Given the description of an element on the screen output the (x, y) to click on. 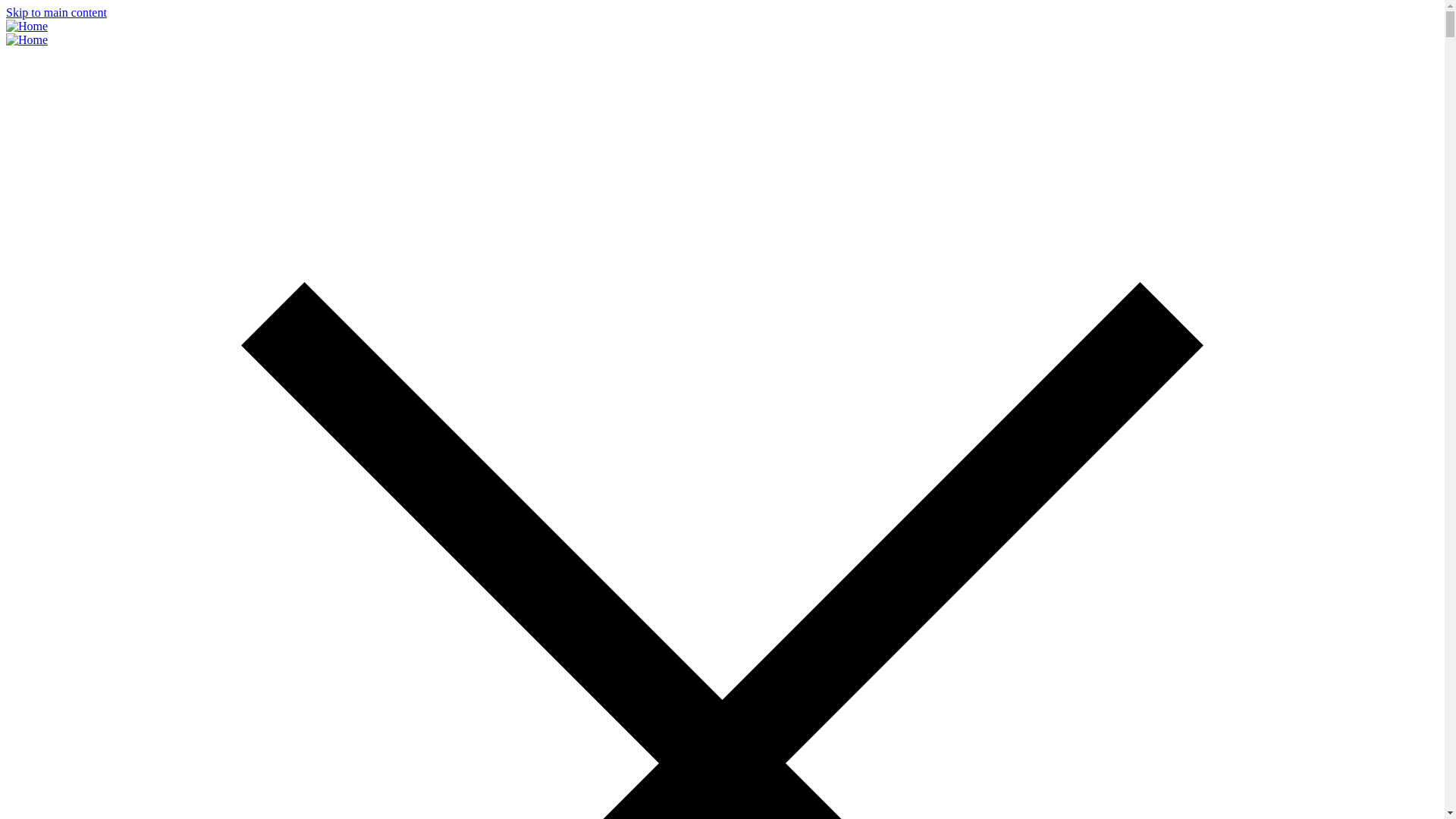
Skip to main content (55, 11)
